Given the description of an element on the screen output the (x, y) to click on. 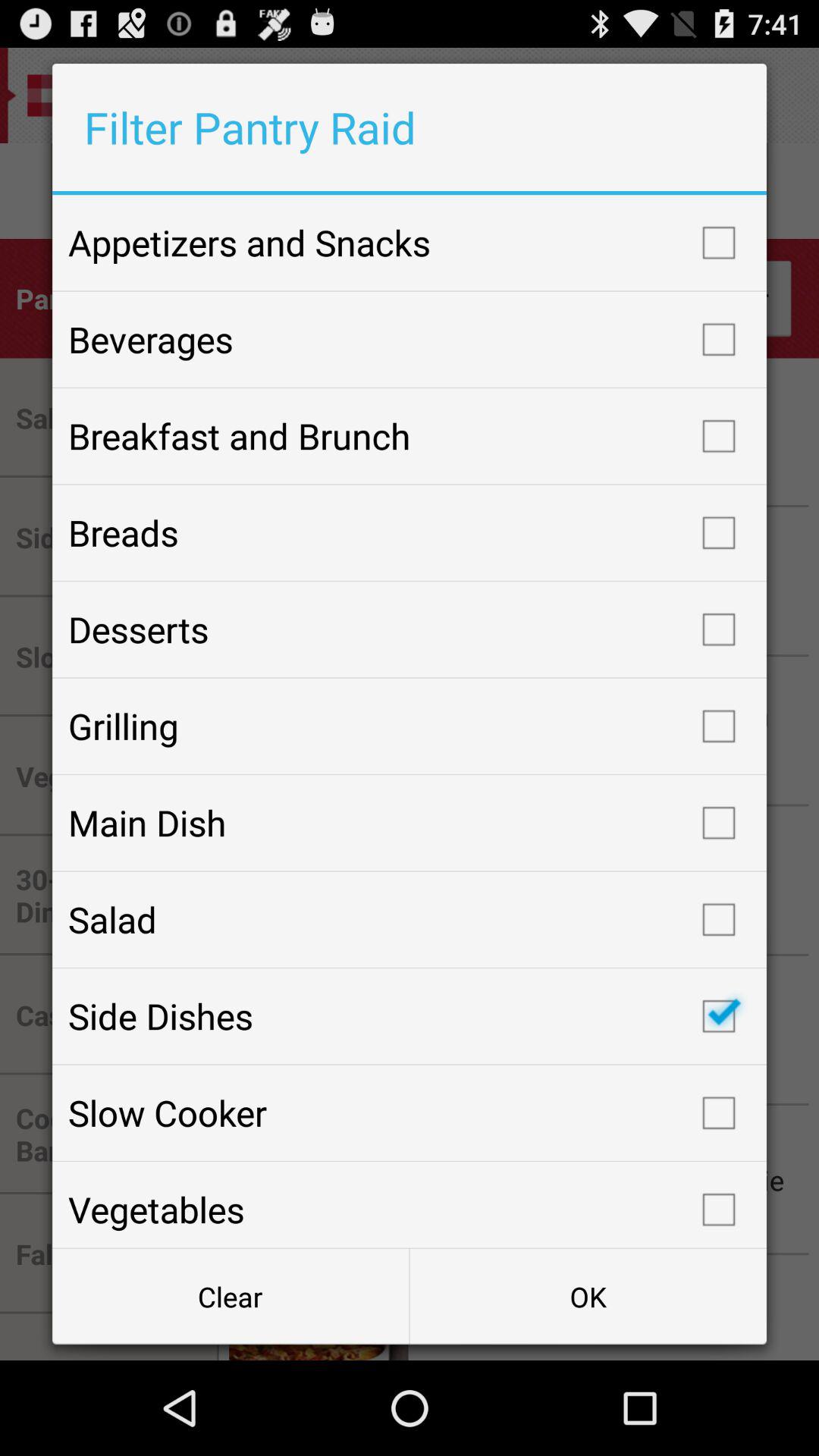
turn on the item below slow cooker item (409, 1204)
